Given the description of an element on the screen output the (x, y) to click on. 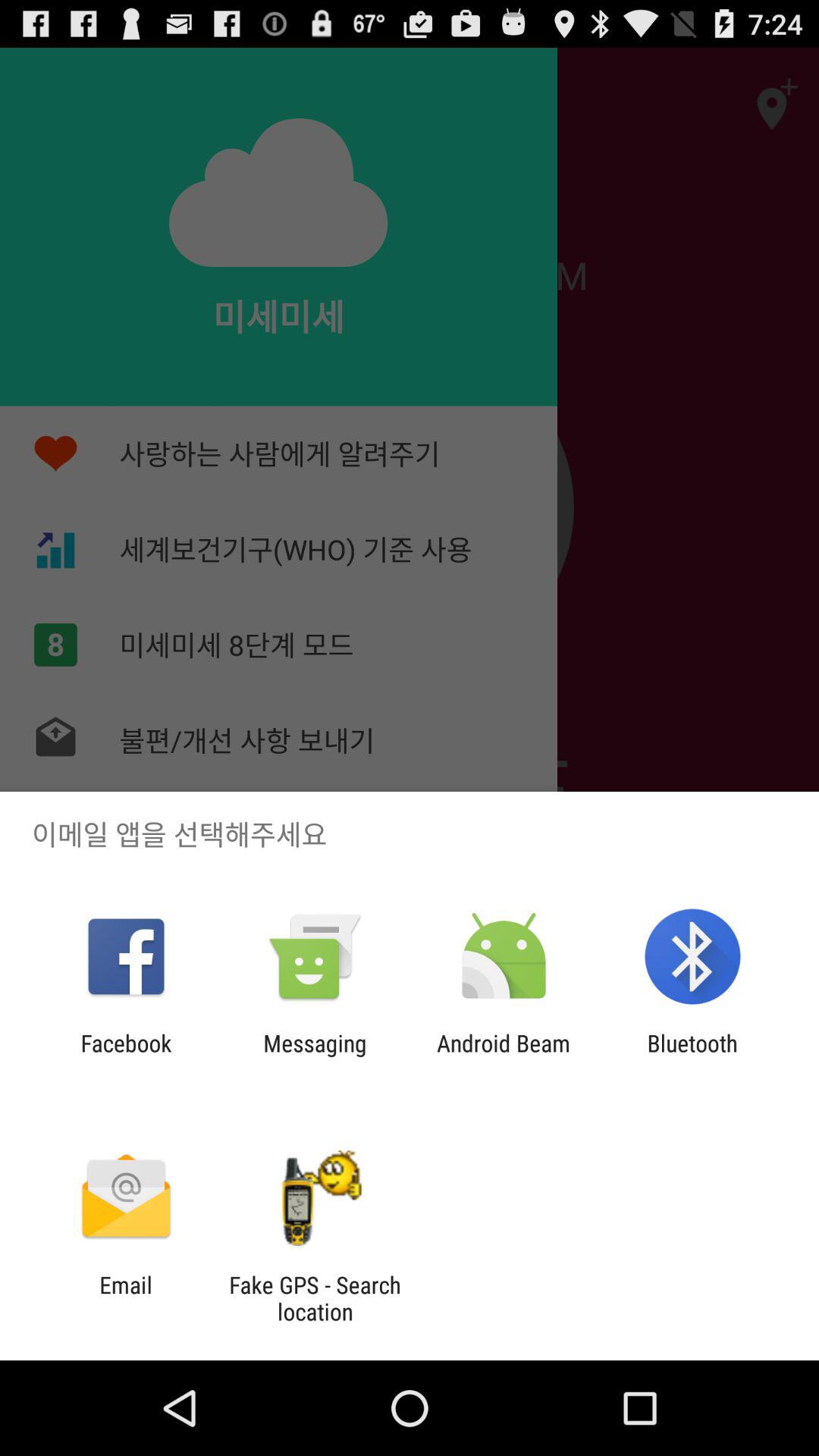
flip to the android beam (503, 1056)
